Given the description of an element on the screen output the (x, y) to click on. 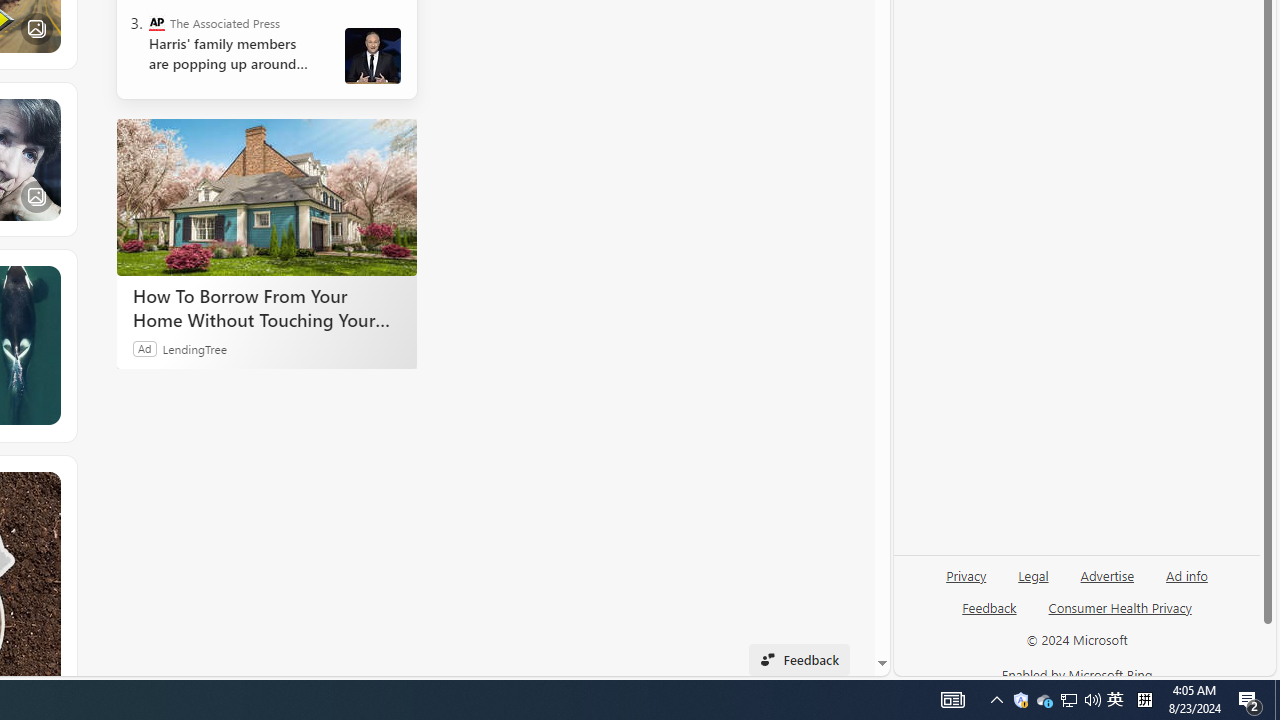
Legal (1033, 574)
Advertise (1106, 583)
Ad info (1187, 574)
Privacy (966, 583)
Consumer Health Privacy (1119, 615)
Legal (1033, 583)
Feedback (989, 607)
Ad info (1186, 583)
Consumer Health Privacy (1119, 607)
Privacy (965, 574)
Feedback (988, 615)
Advertise (1107, 574)
